Given the description of an element on the screen output the (x, y) to click on. 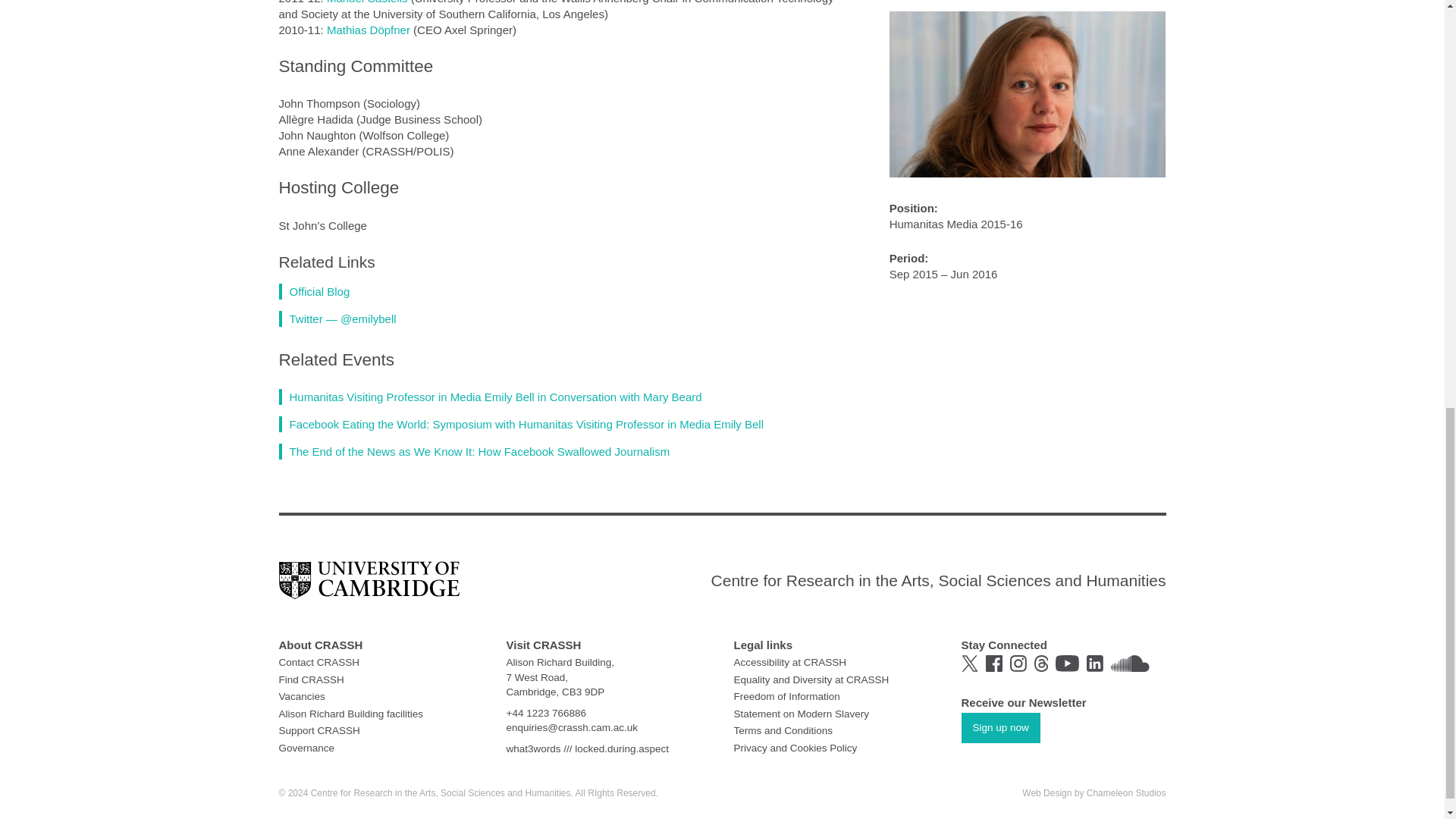
Contact CRASSH (319, 662)
Support CRASSH (319, 730)
Manuel Castells (366, 2)
Accessibility at CRASSH (790, 662)
Official Blog (314, 290)
Freedom of Information (786, 696)
Alison Richard Building facilities (351, 713)
